Given the description of an element on the screen output the (x, y) to click on. 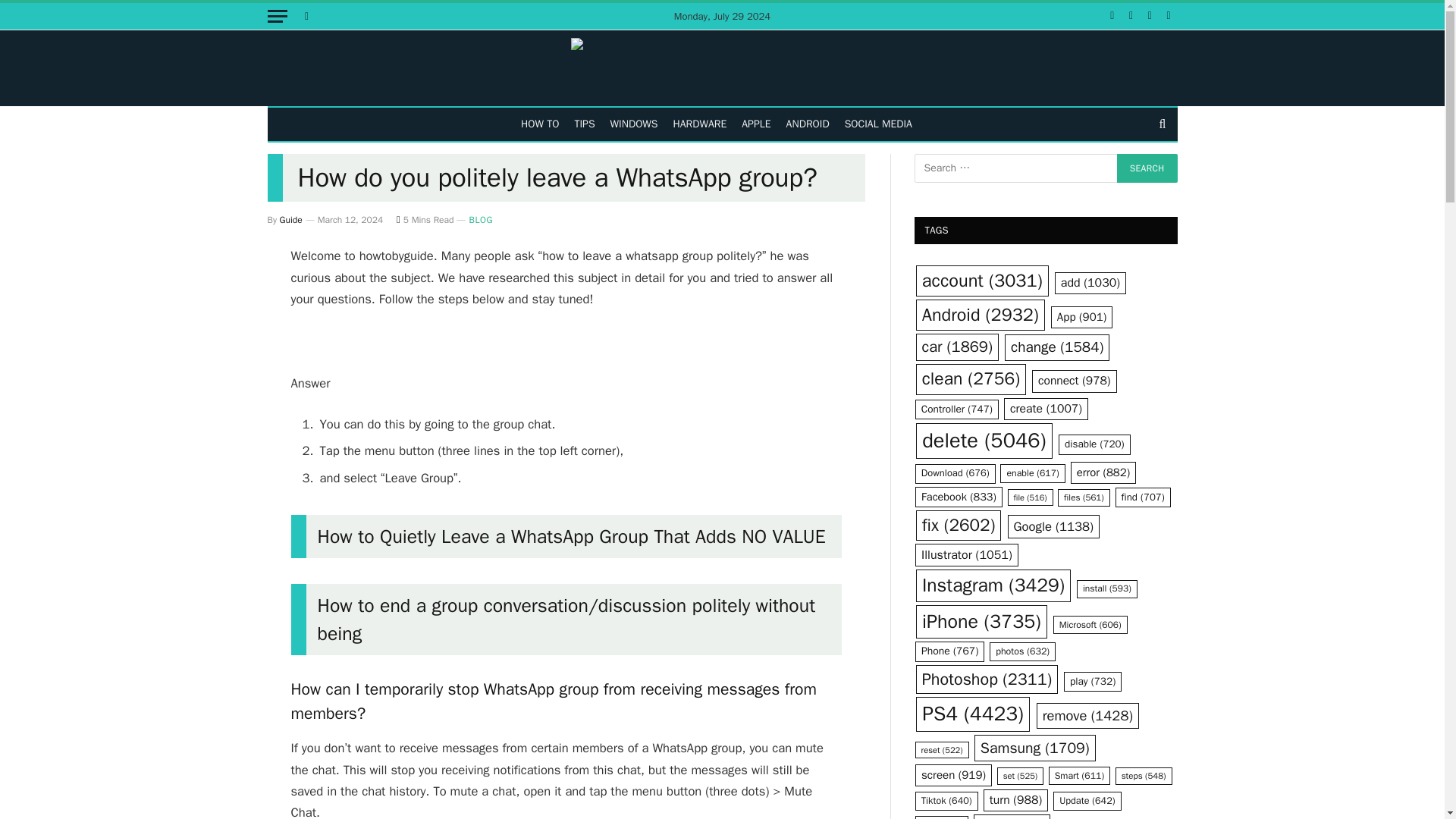
APPLE (755, 123)
HOW TO (539, 123)
TIPS (584, 123)
WINDOWS (633, 123)
SOCIAL MEDIA (878, 123)
ANDROID (807, 123)
howtobyguide.com (721, 68)
Switch to Dark Design - easier on eyes. (305, 15)
Search (1146, 167)
Guide (290, 219)
BLOG (480, 219)
Search (1146, 167)
Posts by Guide (290, 219)
HARDWARE (700, 123)
